Given the description of an element on the screen output the (x, y) to click on. 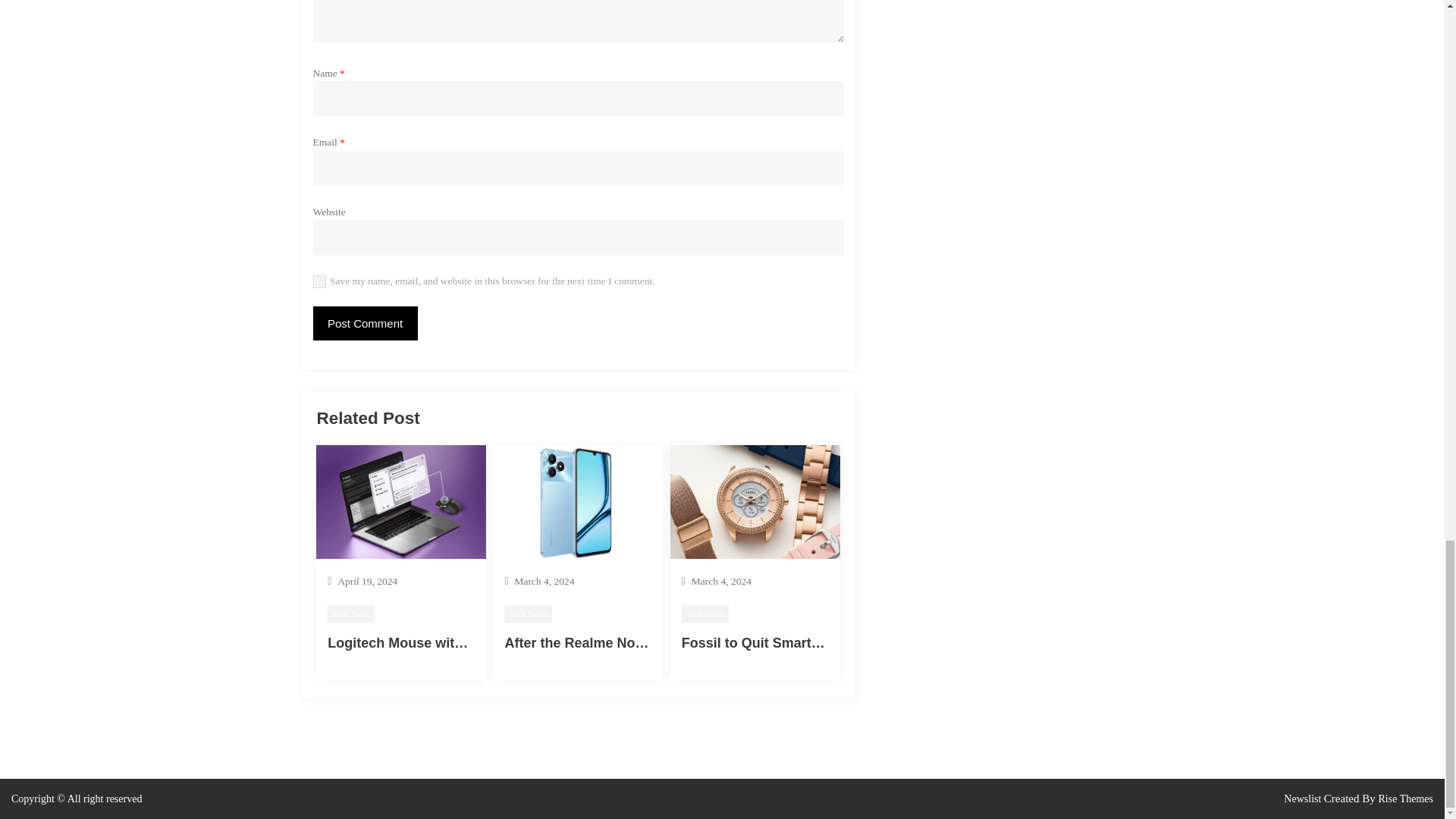
Tech News (705, 613)
Tech News (350, 613)
Post Comment (364, 323)
Tech News (527, 613)
Post Comment (364, 323)
Logitech Mouse with AI Button (427, 642)
